Given the description of an element on the screen output the (x, y) to click on. 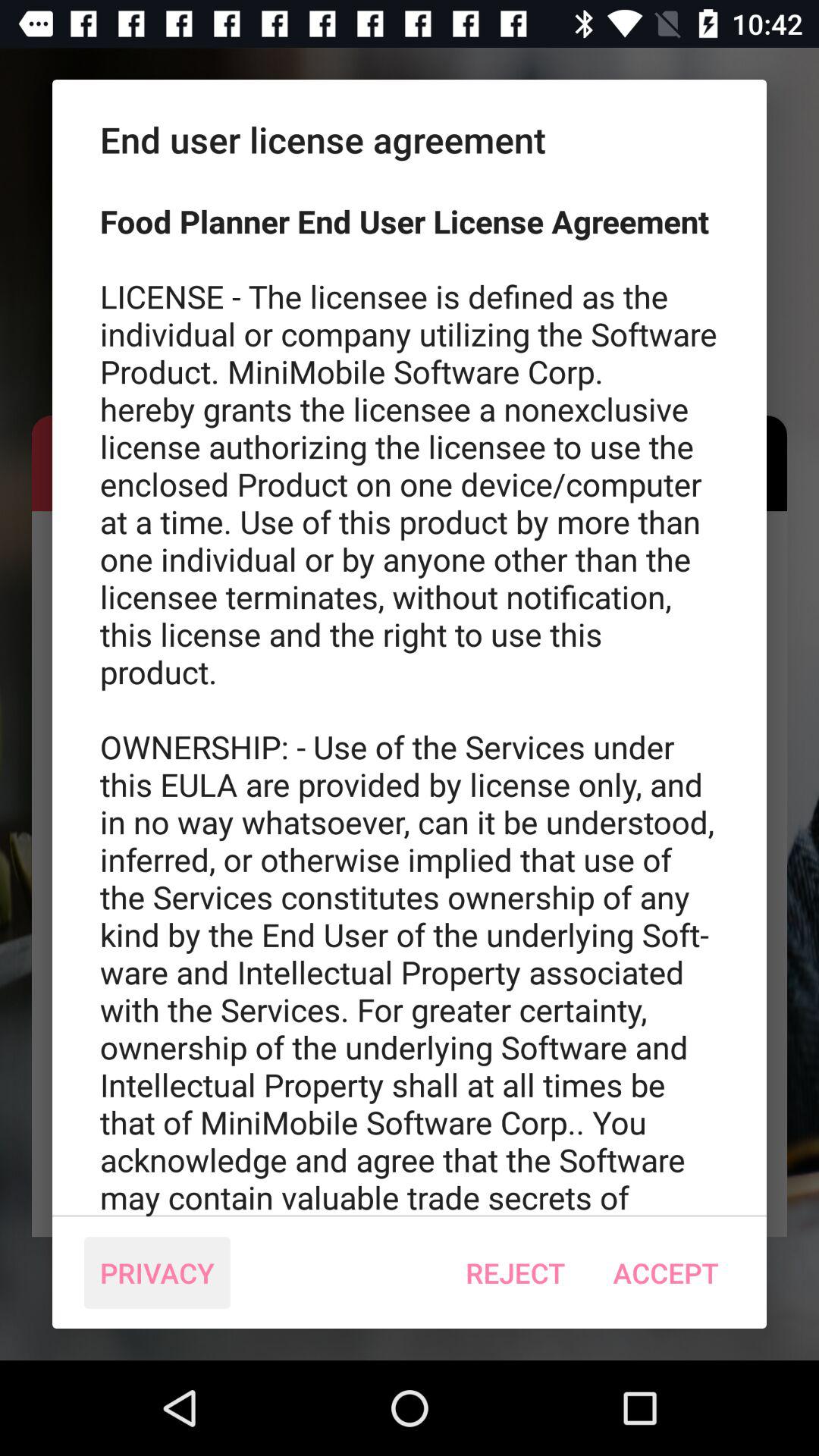
turn off privacy (157, 1272)
